Given the description of an element on the screen output the (x, y) to click on. 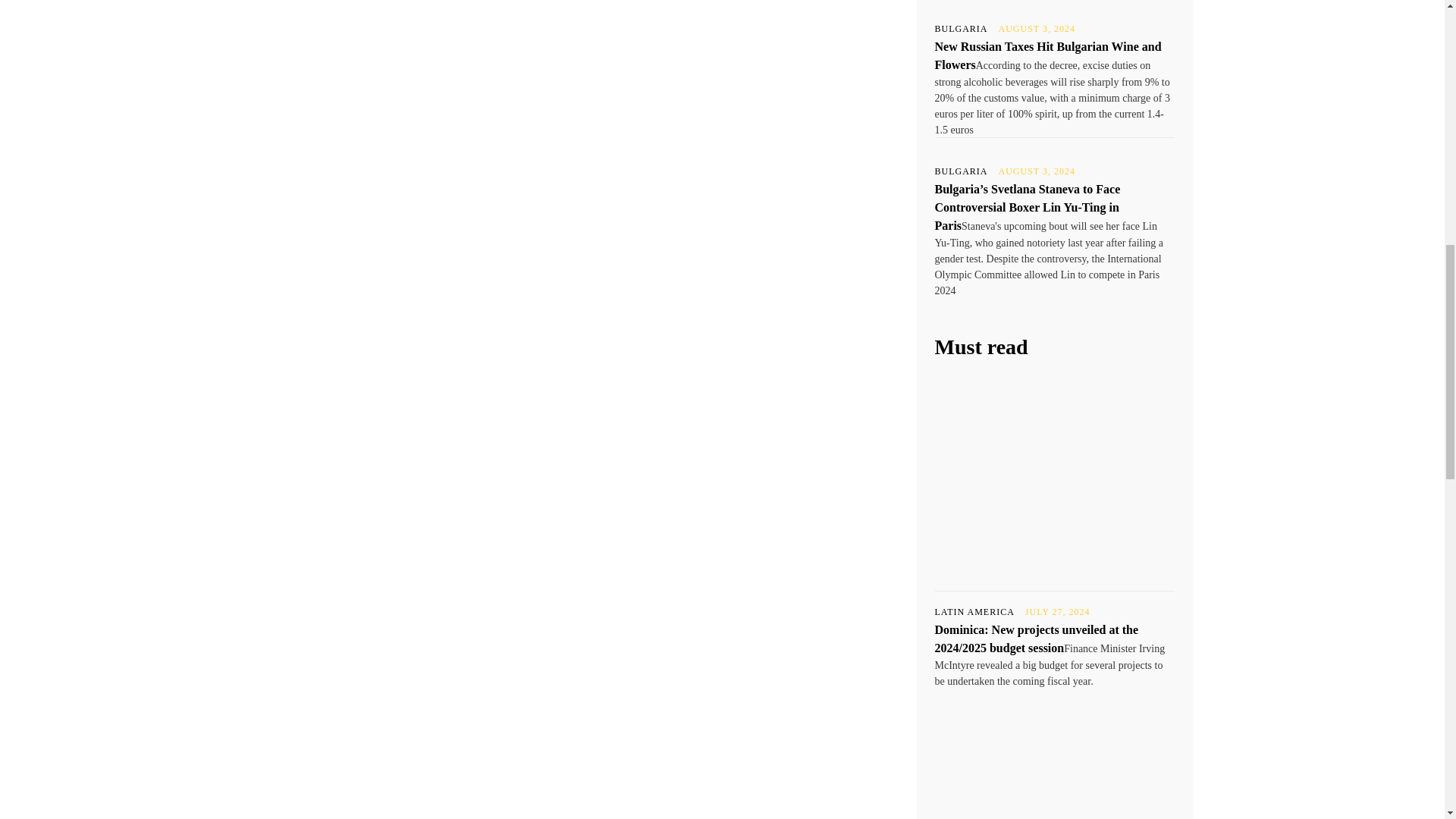
New Russian Taxes Hit Bulgarian Wine and Flowers (1047, 55)
